Given the description of an element on the screen output the (x, y) to click on. 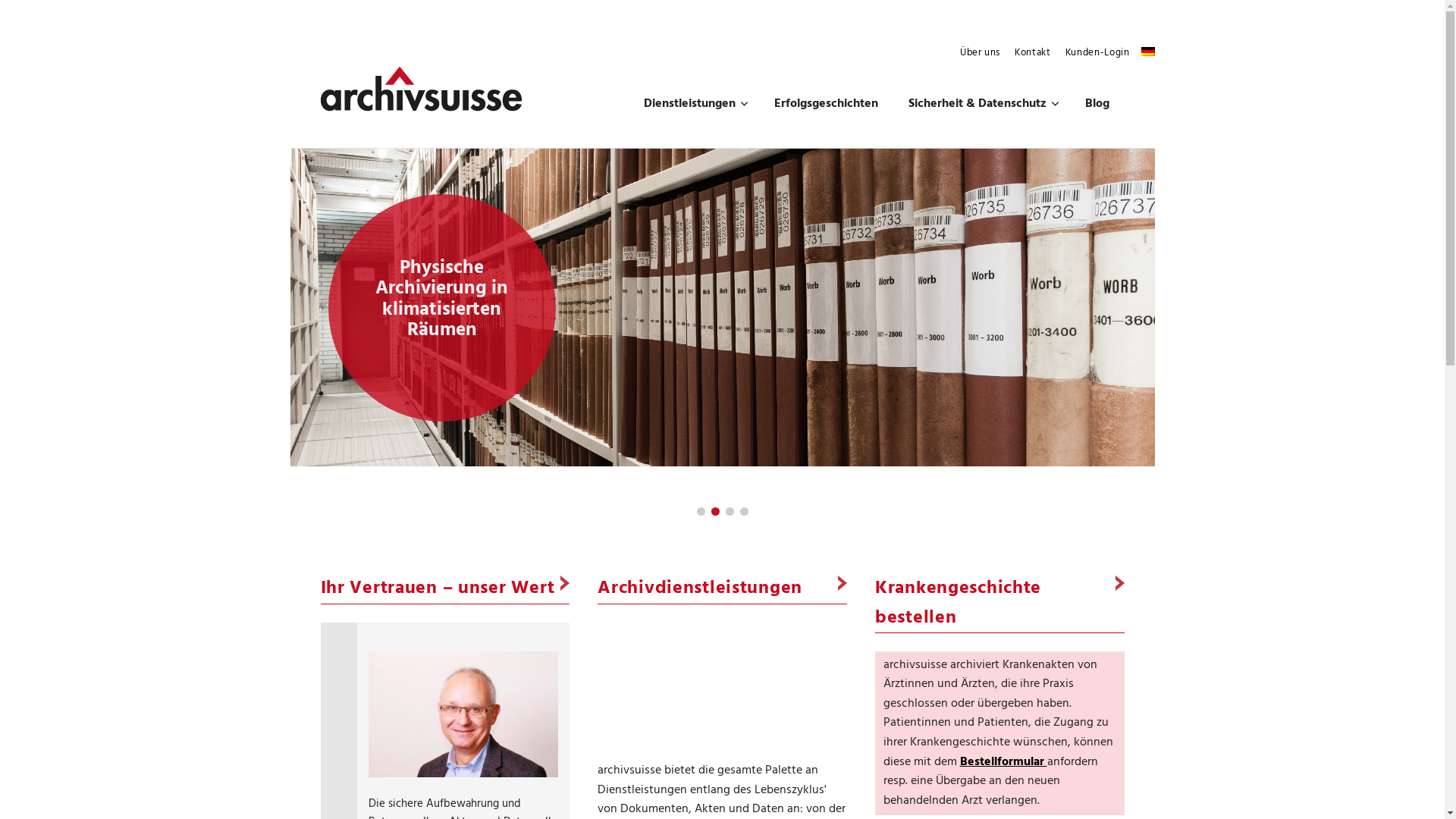
Kontakt Element type: text (1032, 52)
Kunden-Login Element type: text (1097, 52)
archivsuisse Element type: hover (722, 679)
Dienstleistungen Element type: text (692, 104)
Erfolgsgeschichten Element type: text (825, 104)
Blog Element type: text (1096, 104)
Sicherheit & Datenschutz Element type: text (981, 104)
Sprache:  Element type: text (1147, 51)
Skip to content Element type: text (289, 42)
Bestellformular Element type: text (1003, 761)
